Given the description of an element on the screen output the (x, y) to click on. 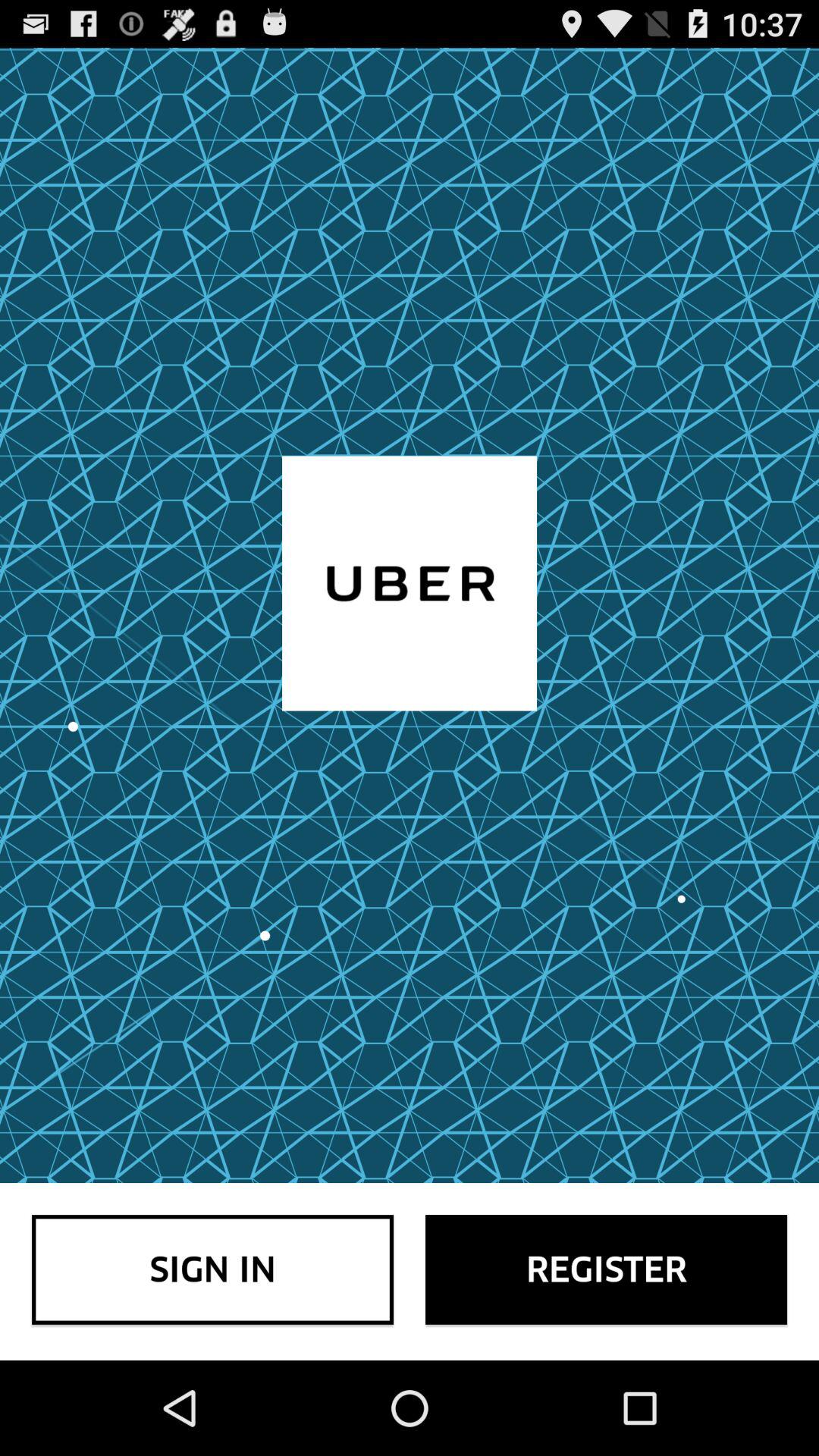
turn on icon next to the sign in icon (606, 1269)
